Given the description of an element on the screen output the (x, y) to click on. 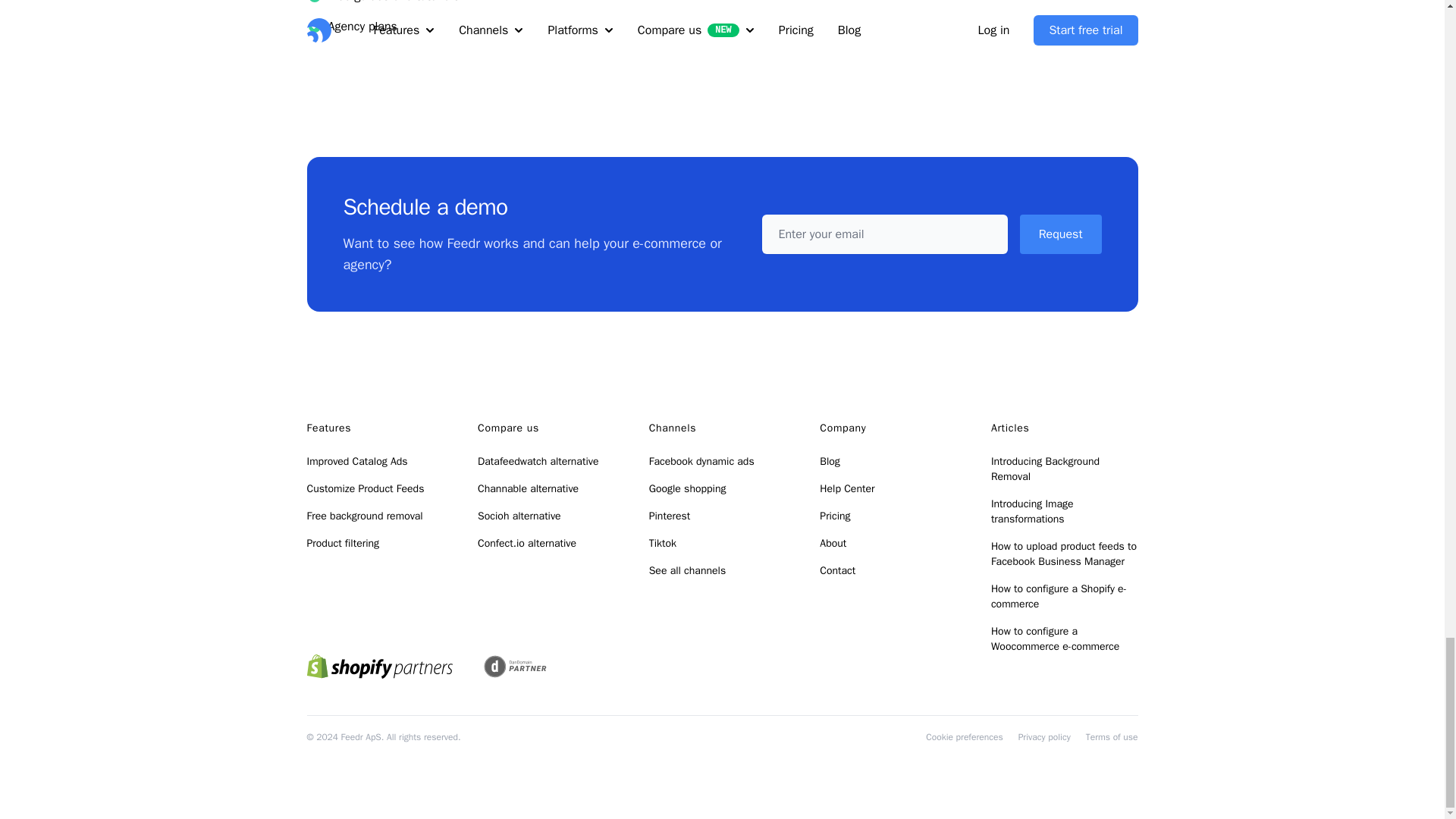
Improved Catalog Ads (356, 461)
Customize Product Feeds (364, 488)
Request (1061, 233)
